Given the description of an element on the screen output the (x, y) to click on. 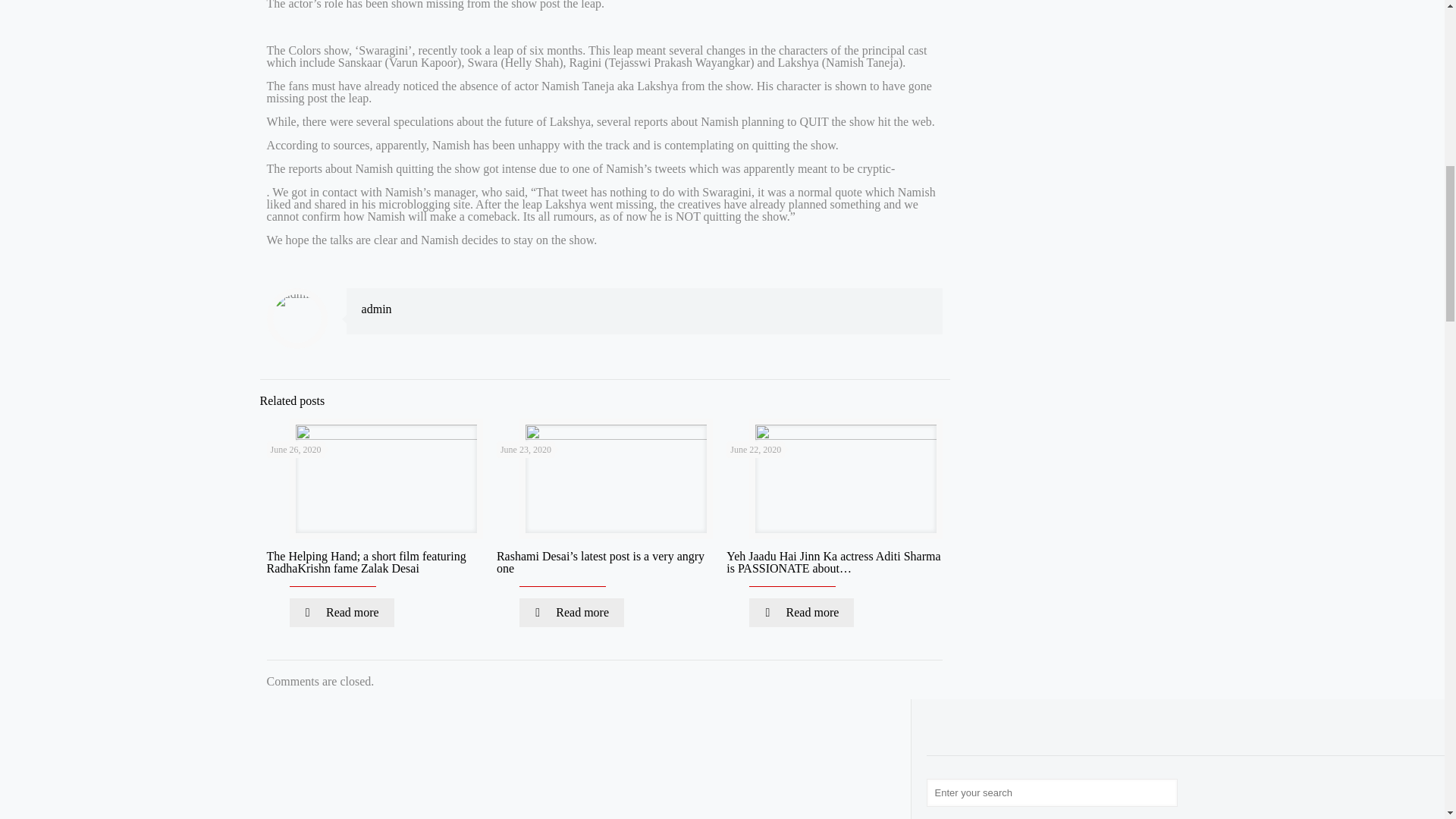
Read more (571, 612)
Read more (341, 612)
admin (376, 308)
Read more (801, 612)
